Given the description of an element on the screen output the (x, y) to click on. 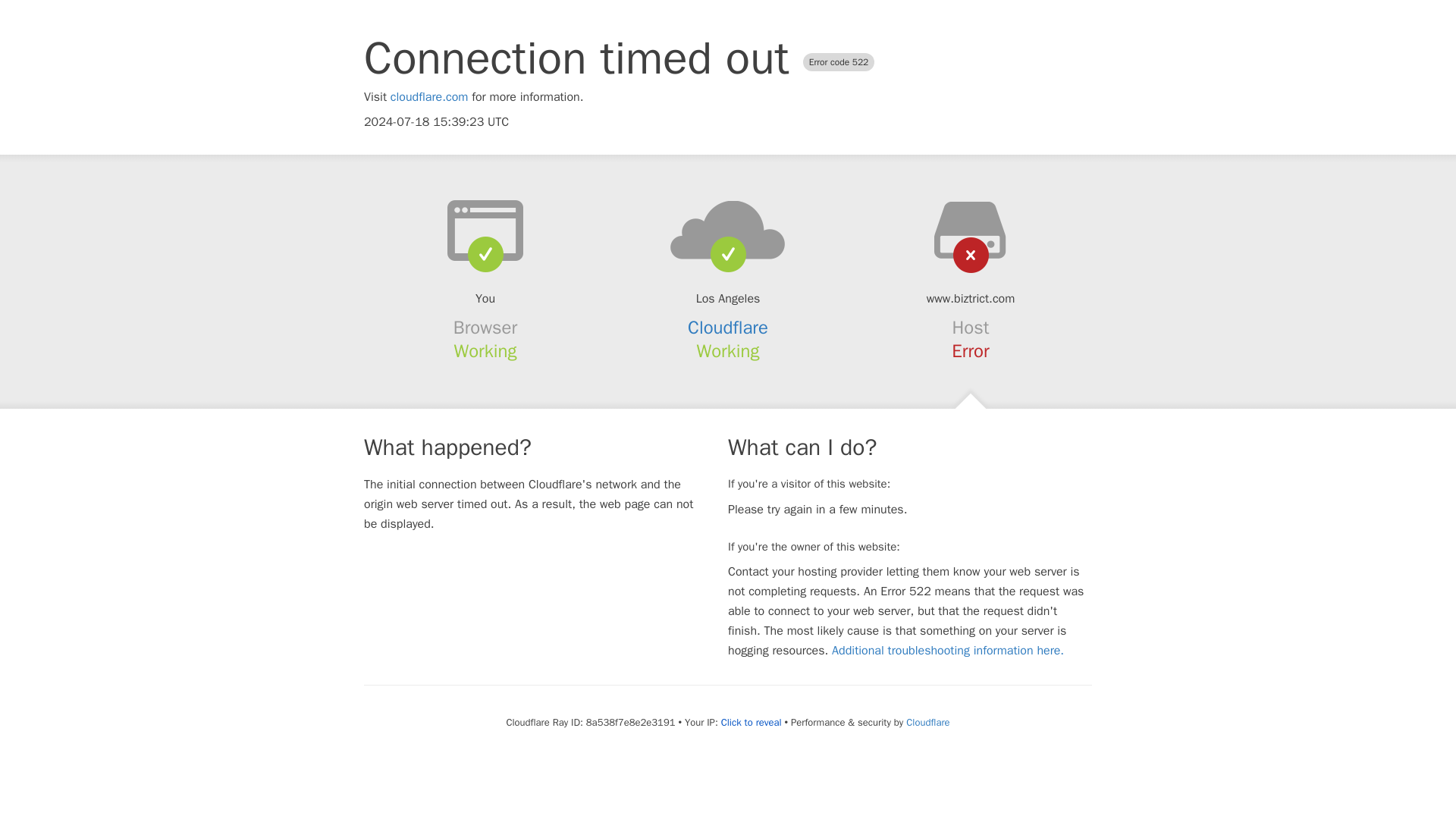
Cloudflare (727, 327)
Cloudflare (927, 721)
Click to reveal (750, 722)
Additional troubleshooting information here. (947, 650)
cloudflare.com (429, 96)
